Given the description of an element on the screen output the (x, y) to click on. 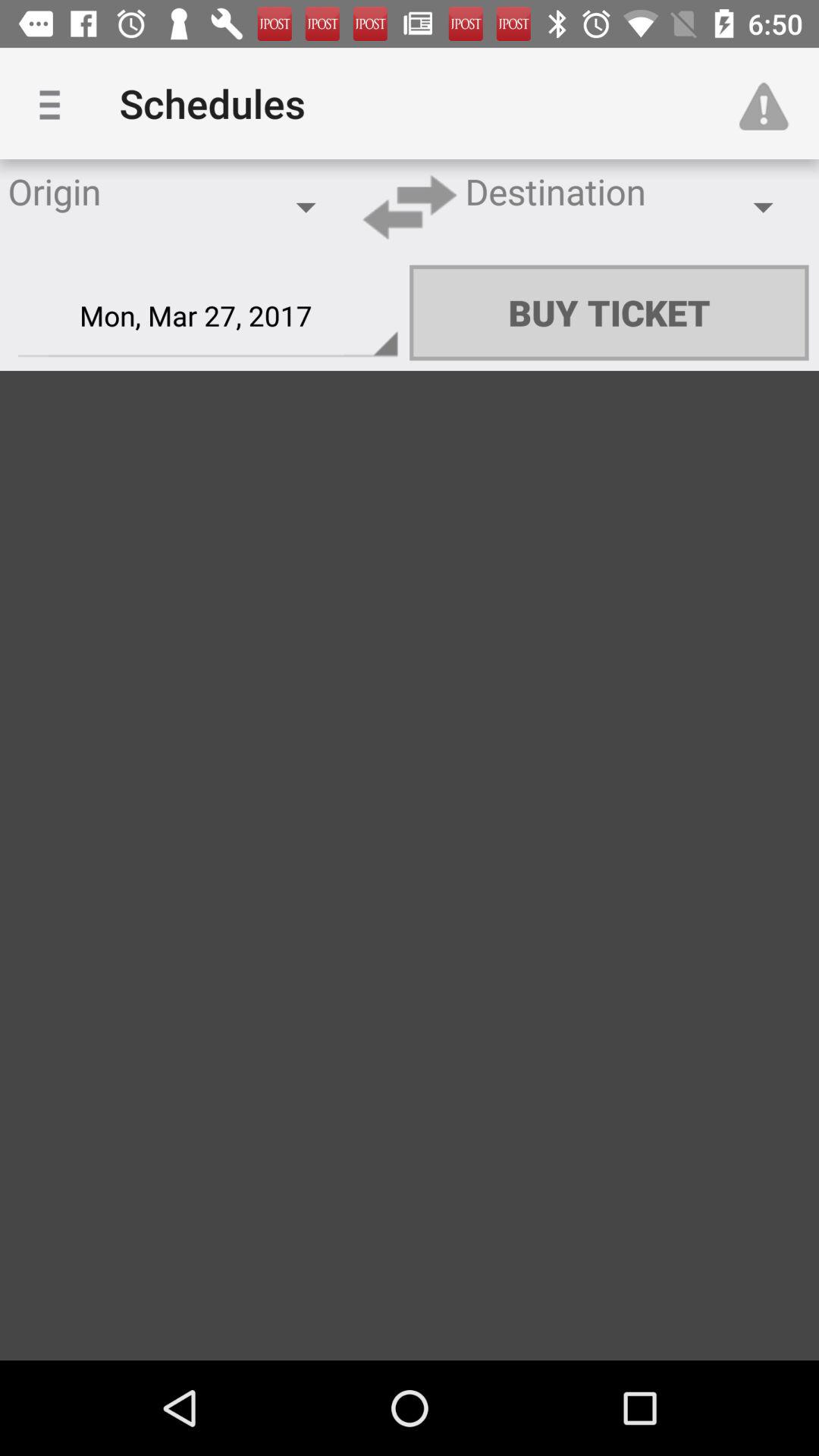
choose the buy ticket icon (608, 312)
